Given the description of an element on the screen output the (x, y) to click on. 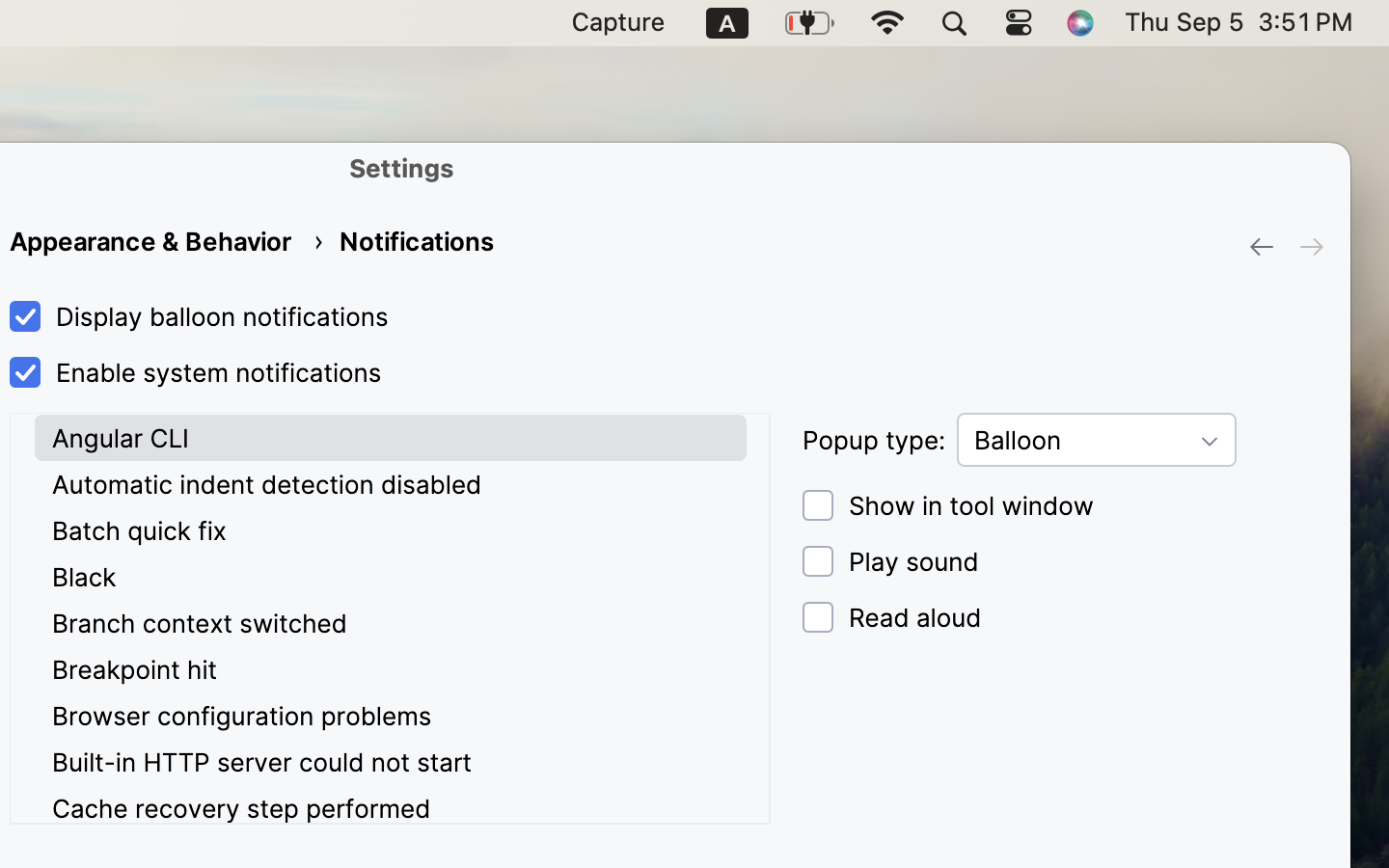
Popup type: Element type: AXStaticText (873, 440)
